Given the description of an element on the screen output the (x, y) to click on. 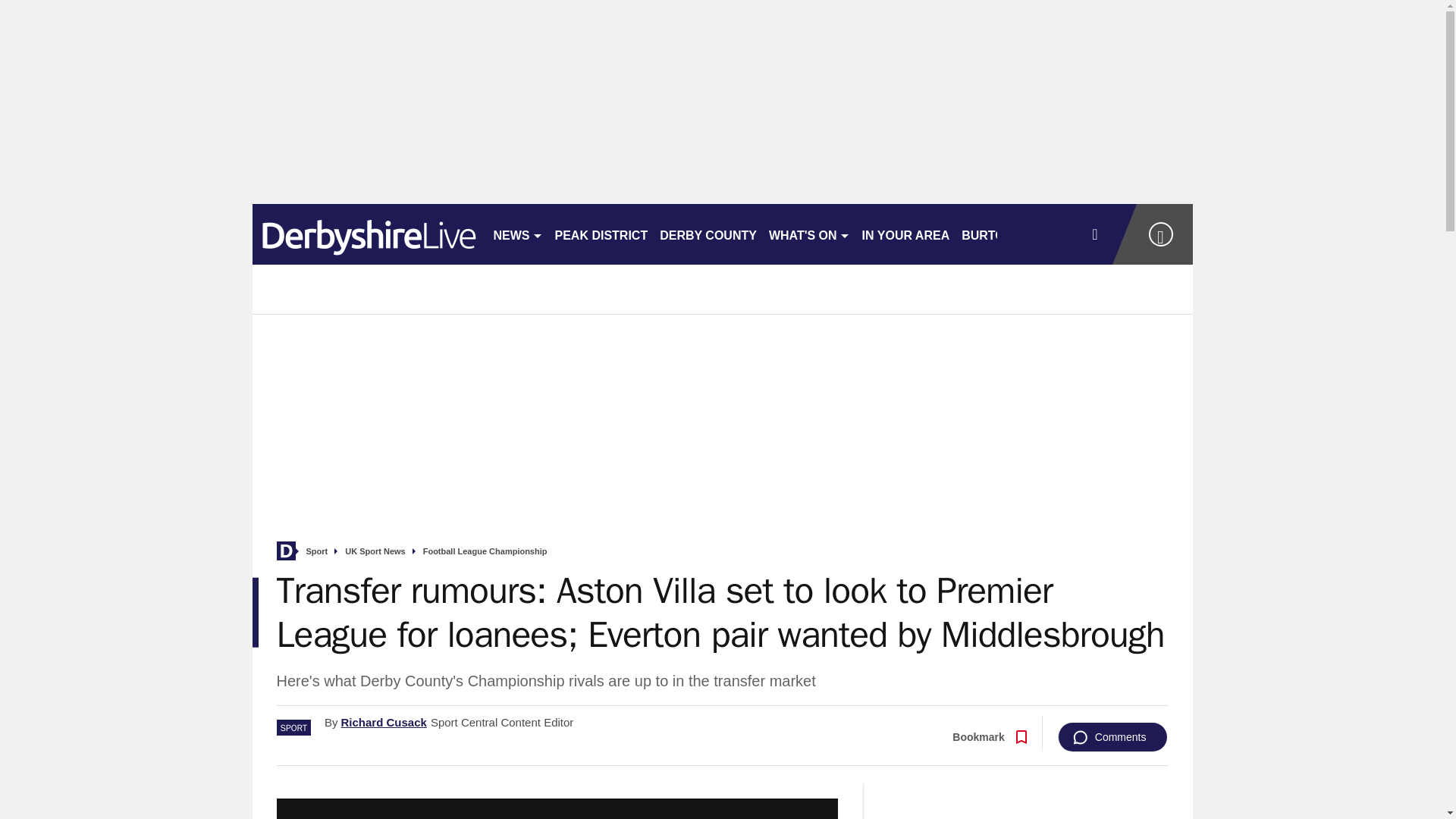
Comments (1112, 736)
DERBY COUNTY (707, 233)
BURTONLIVE (1000, 233)
WHAT'S ON (809, 233)
PEAK DISTRICT (600, 233)
NEWS (517, 233)
derbytelegraph (365, 233)
IN YOUR AREA (906, 233)
